Given the description of an element on the screen output the (x, y) to click on. 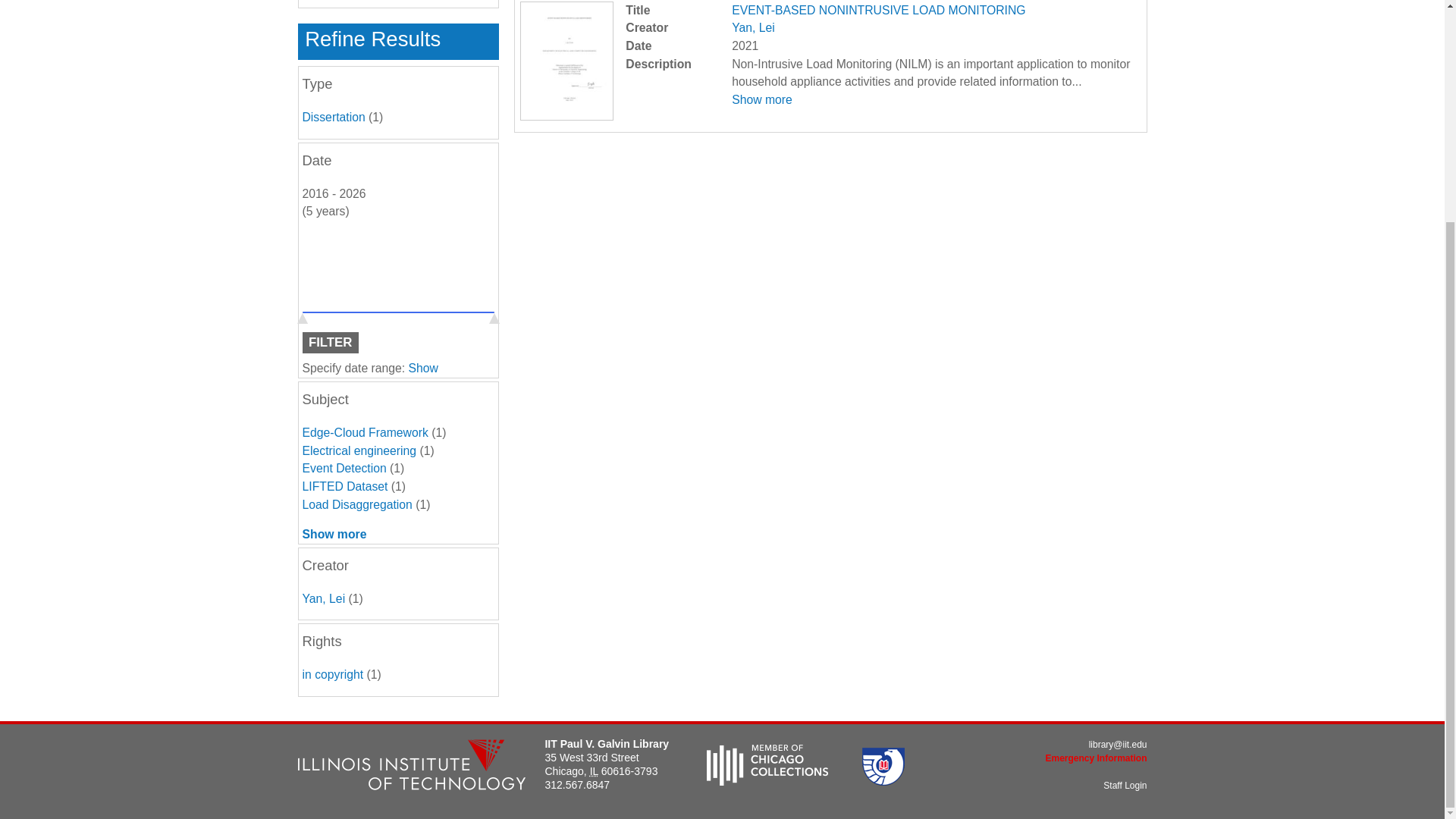
Illinois (593, 770)
Electrical engineering (358, 450)
Show (423, 367)
EVENT-BASED NONINTRUSIVE LOAD MONITORING (878, 10)
Load Disaggregation (356, 504)
EVENT-BASED NONINTRUSIVE LOAD MONITORING (878, 10)
Federal Depository Library Program (882, 780)
Show more (762, 99)
Chicago Collections (767, 780)
Event Detection (343, 468)
LIFTED Dataset (344, 486)
Edge-Cloud Framework (364, 431)
Filter (329, 342)
Yan, Lei (753, 27)
Filter (329, 342)
